Given the description of an element on the screen output the (x, y) to click on. 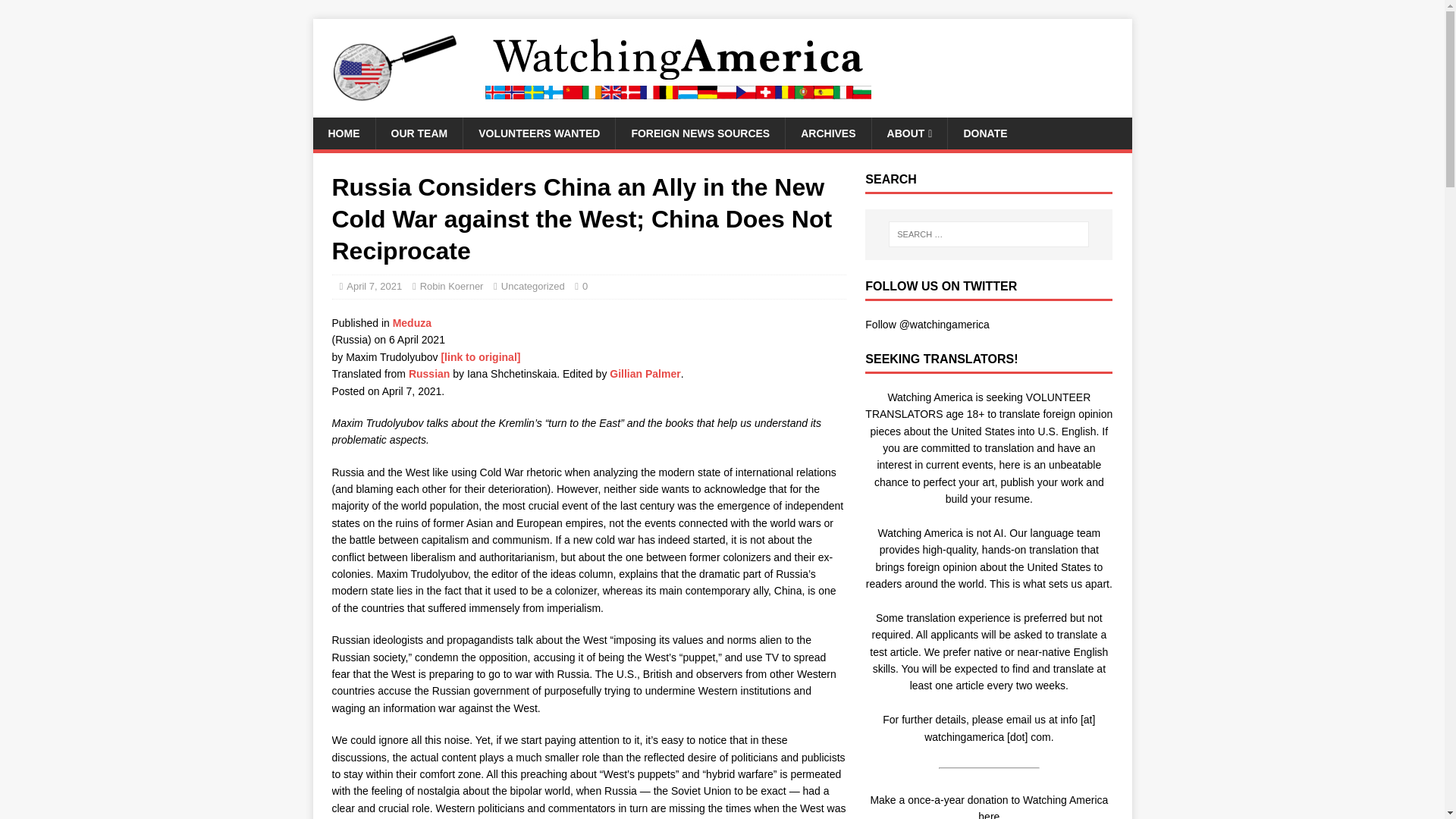
April 7, 2021 (373, 285)
Robin Koerner (451, 285)
VOLUNTEERS WANTED (538, 133)
ABOUT (908, 133)
Russian (429, 373)
About this publication (411, 322)
Meduza (411, 322)
Uncategorized (532, 285)
ARCHIVES (827, 133)
HOME (343, 133)
